Given the description of an element on the screen output the (x, y) to click on. 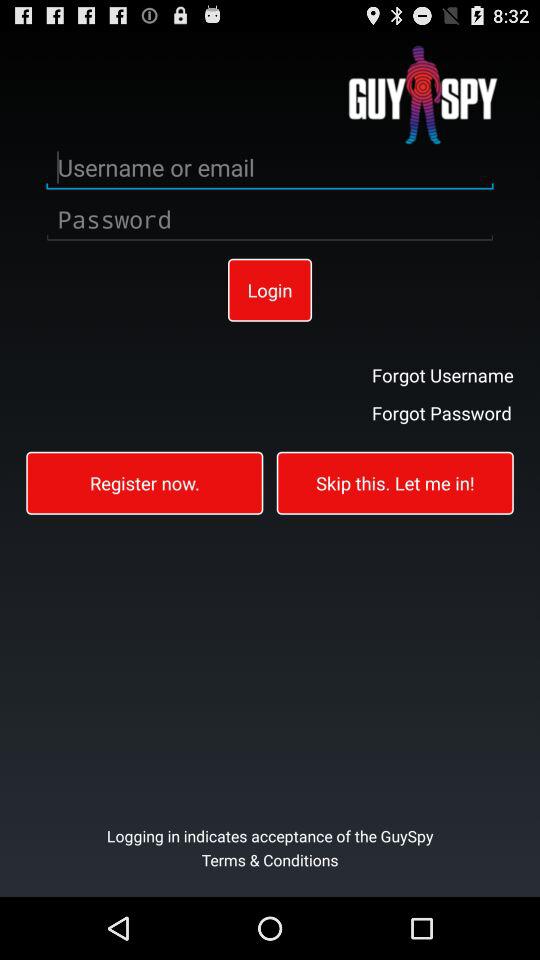
launch the app above forgot password (442, 374)
